Given the description of an element on the screen output the (x, y) to click on. 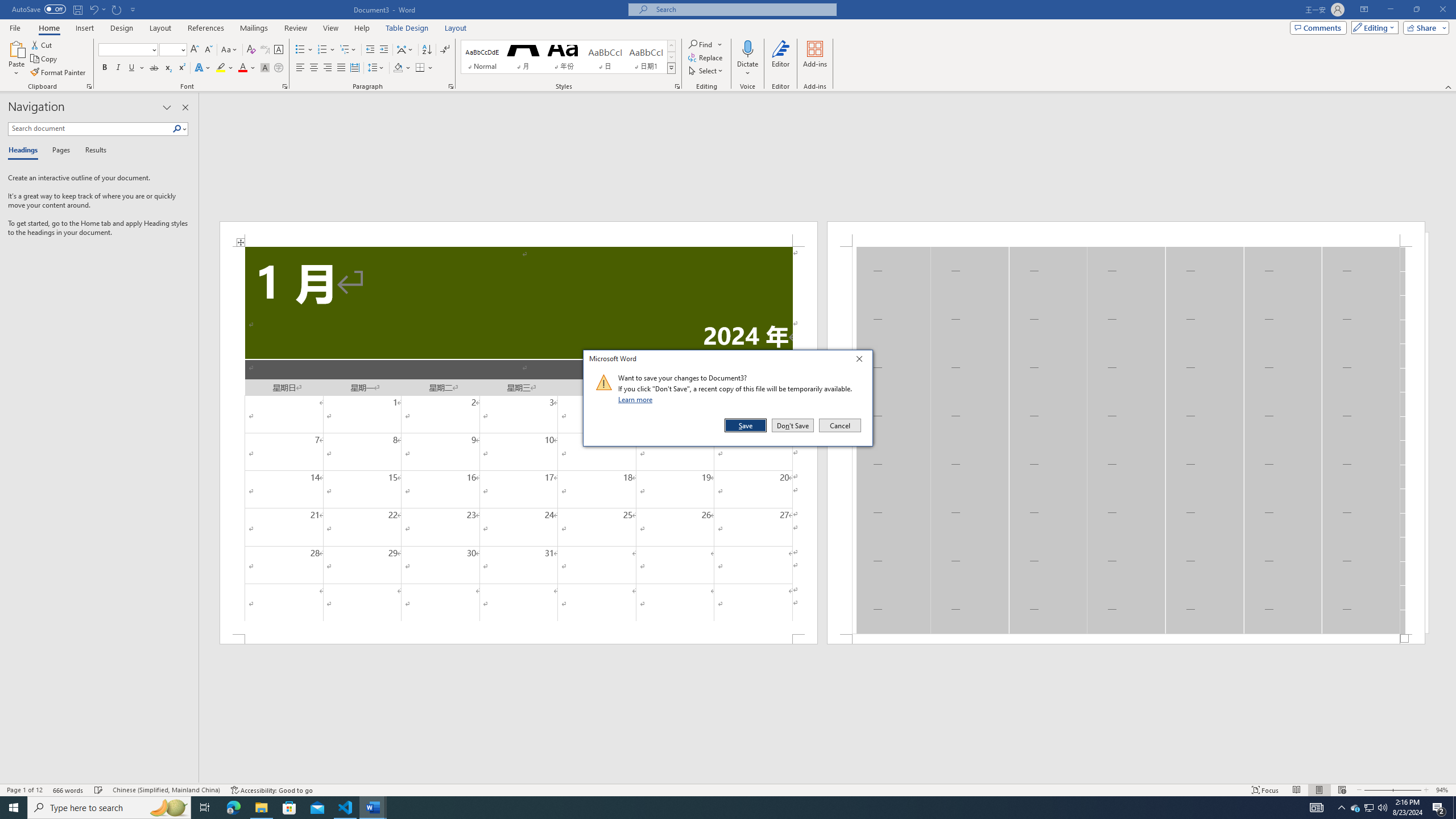
Don't Save (792, 425)
Font Color RGB(255, 0, 0) (241, 67)
Microsoft Edge (233, 807)
